Given the description of an element on the screen output the (x, y) to click on. 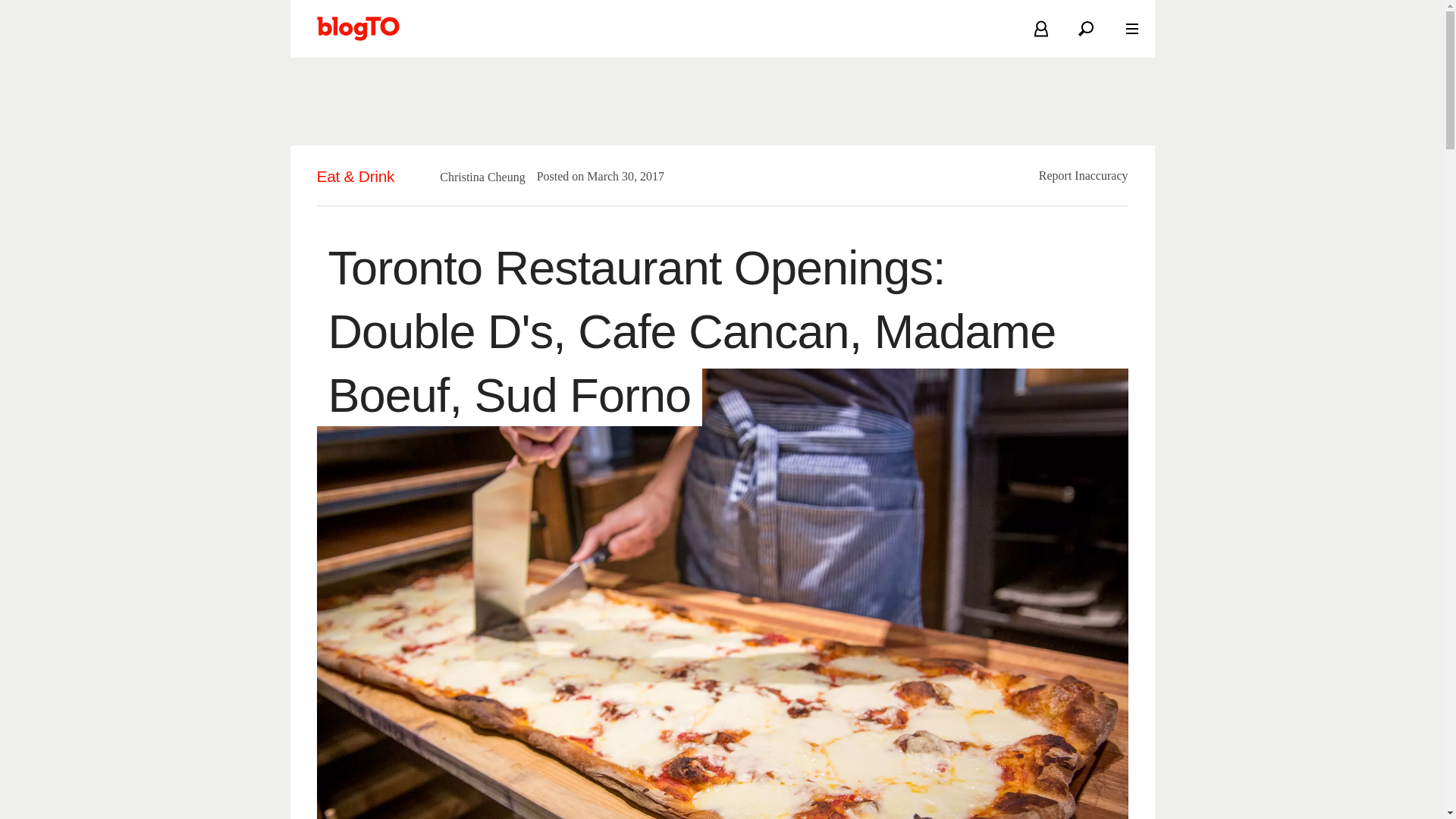
2017-03-30T08:22:30 (617, 175)
